Given the description of an element on the screen output the (x, y) to click on. 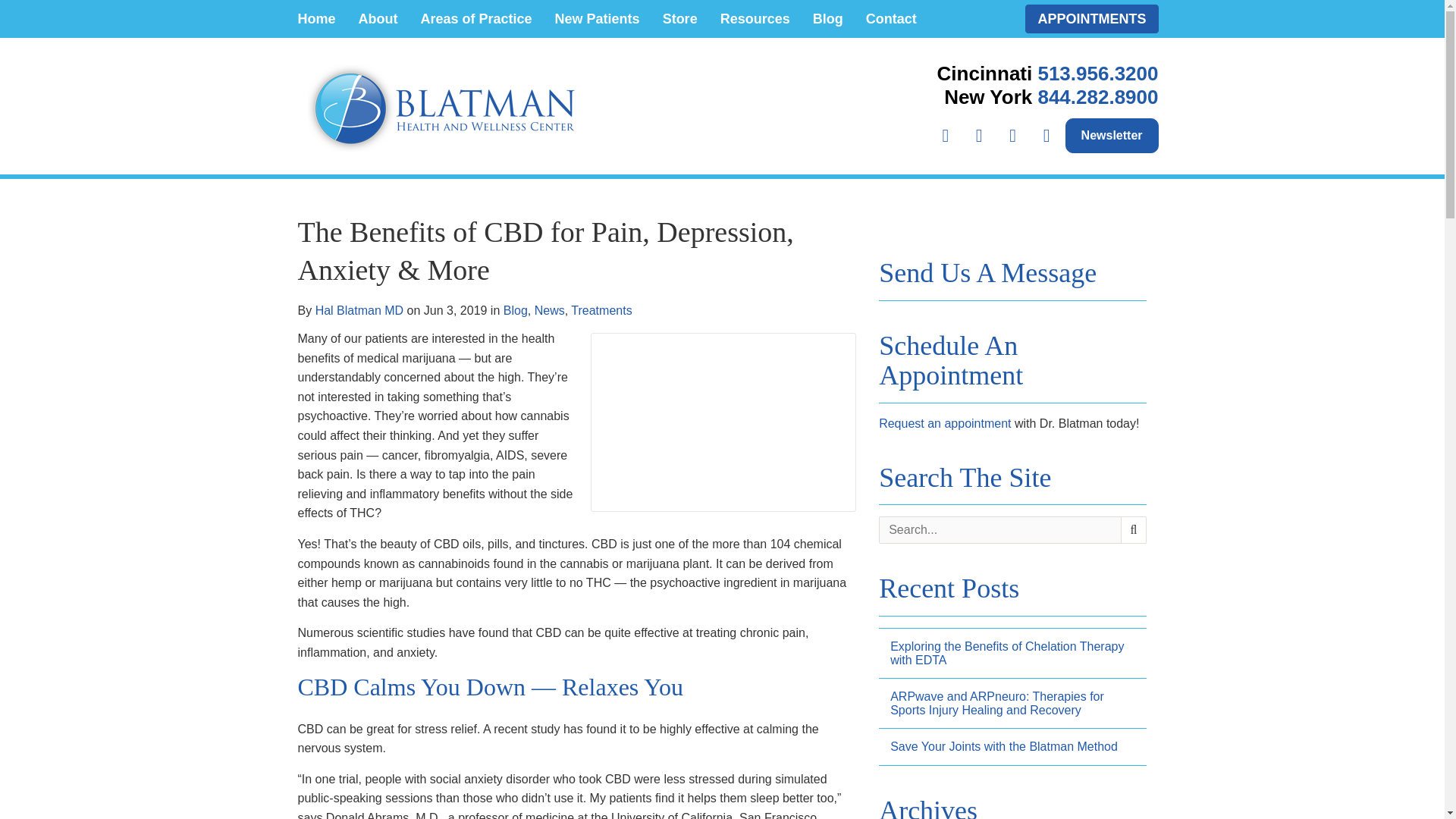
Home (316, 18)
About (378, 18)
New Patients (596, 18)
Posts by Hal Blatman MD (359, 309)
Store (679, 18)
Areas of Practice (476, 18)
Resources (755, 18)
